Given the description of an element on the screen output the (x, y) to click on. 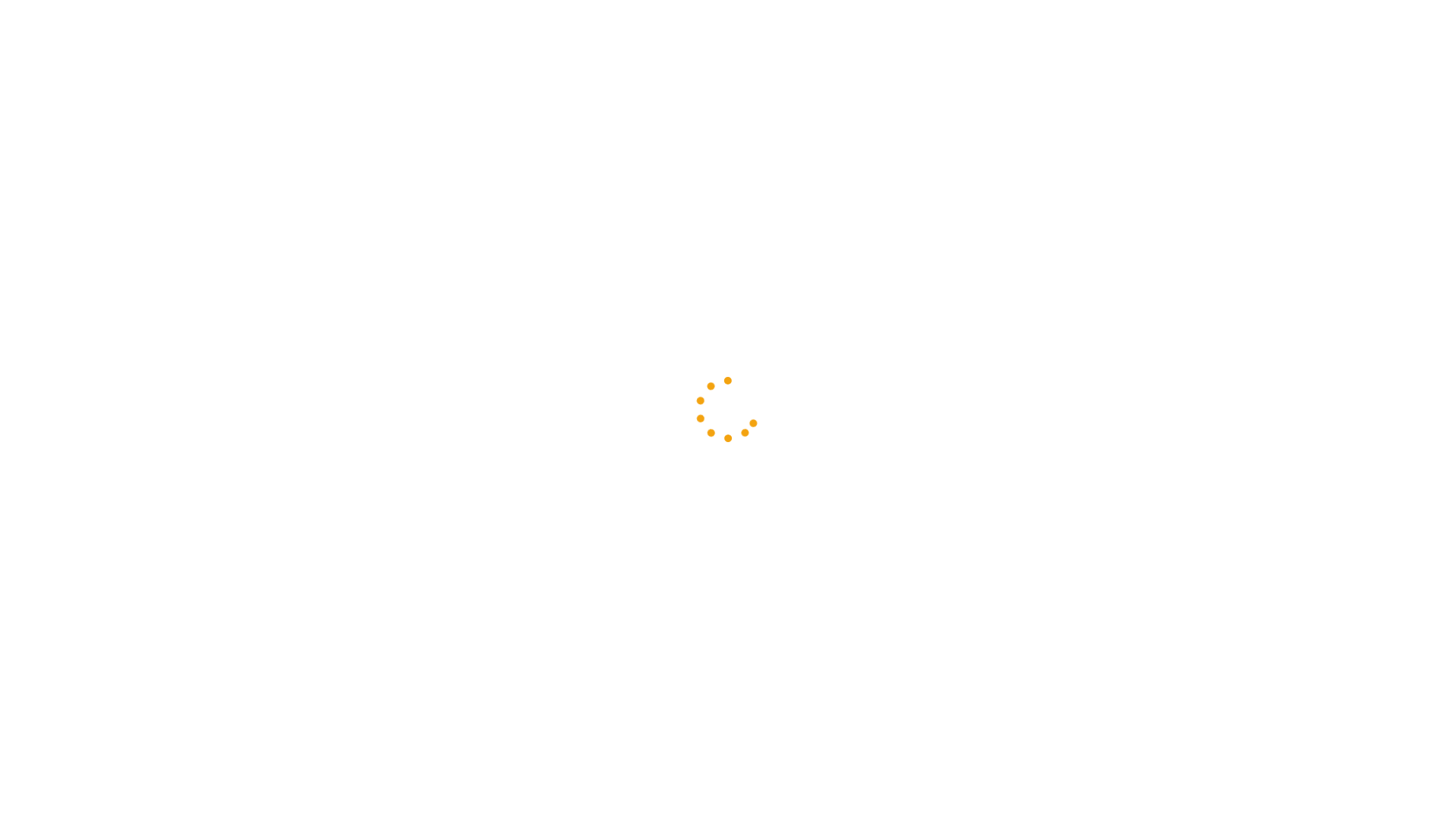
filial@les24.by Element type: text (619, 18)
STIHL Element type: text (383, 142)
+375 (33)
399-46-05 Element type: text (906, 427)
+375 (29)
833-94-07 Element type: text (906, 450)
MS 361 Element type: text (494, 142)
+375 (33)
399-46-01 Element type: text (906, 382)
+375 (33)
399-46-01 Element type: text (503, 19)
+375 (29)
833-95-97 Element type: text (906, 405)
